Given the description of an element on the screen output the (x, y) to click on. 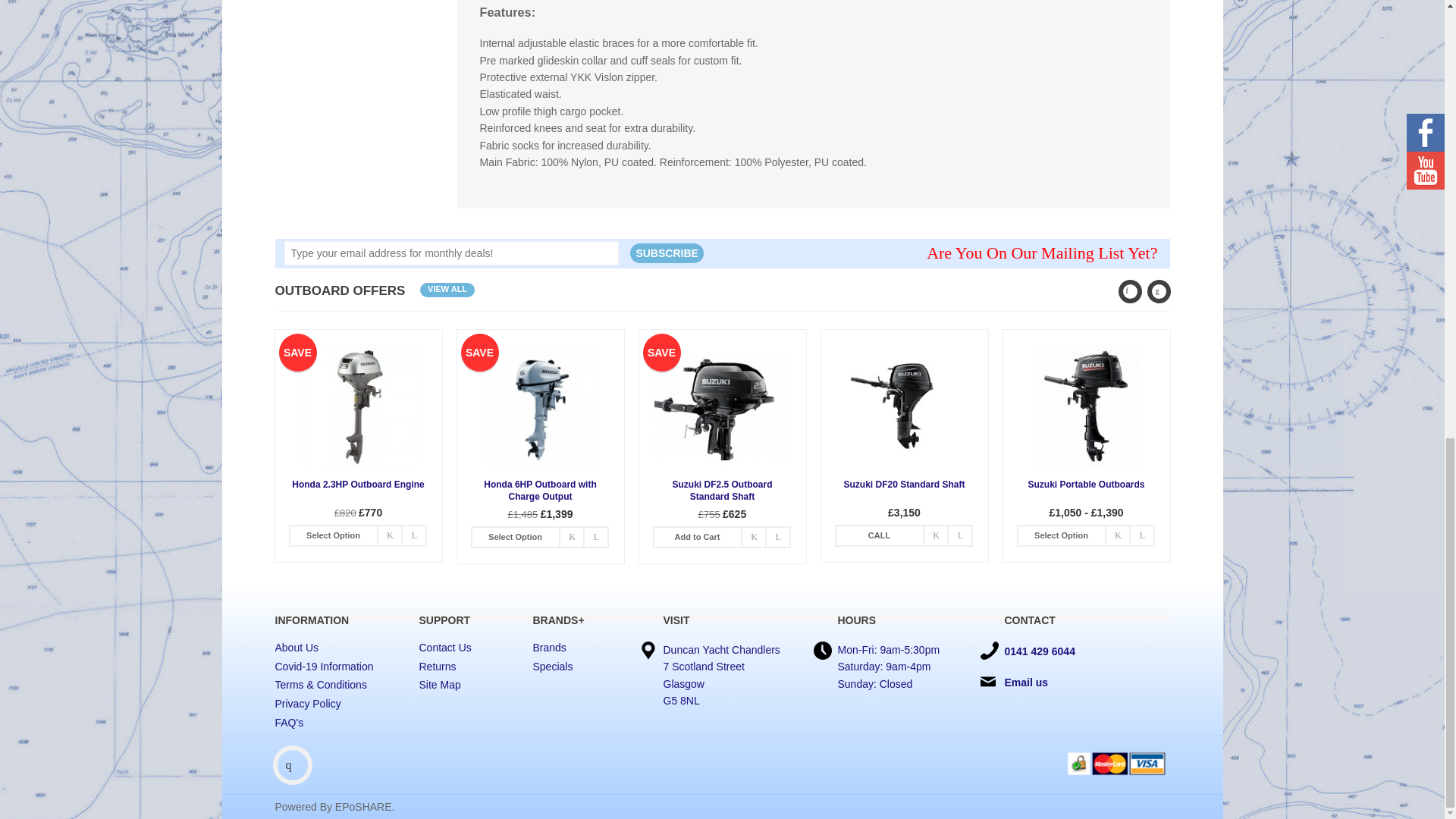
Add to Wish List (389, 535)
Add to Compare (595, 537)
Add to Cart (333, 535)
Honda 6HP Outboard with Charge Output (539, 405)
Add to Wish List (571, 537)
Honda 2.3HP Outboard Engine (357, 405)
Suzuki DF2.5 Outboard Standard Shaft (721, 405)
Add to Compare (413, 535)
Add to Cart (515, 537)
